Given the description of an element on the screen output the (x, y) to click on. 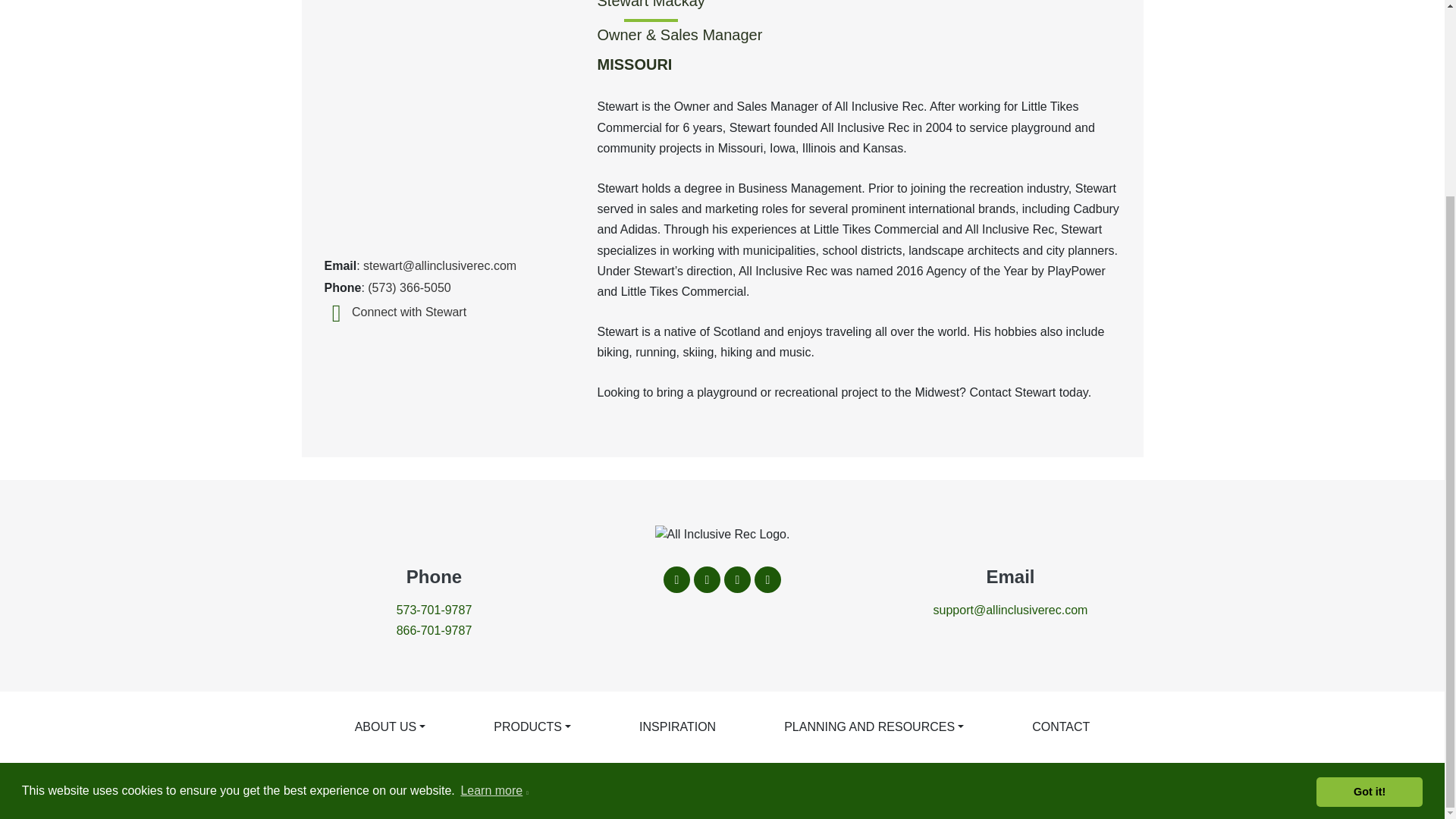
Commercial Playground Equipment Near Me (1010, 609)
Got it! (1369, 543)
Stewart Mackay (449, 117)
866-701-9787 (433, 630)
573-701-9787 (433, 609)
Learn more (494, 543)
Commercial Playground Equipment Supplier Near Me (433, 630)
Connect with Stewart (395, 311)
Missouri Commercial Playground Equipment Supplier (433, 609)
